Given the description of an element on the screen output the (x, y) to click on. 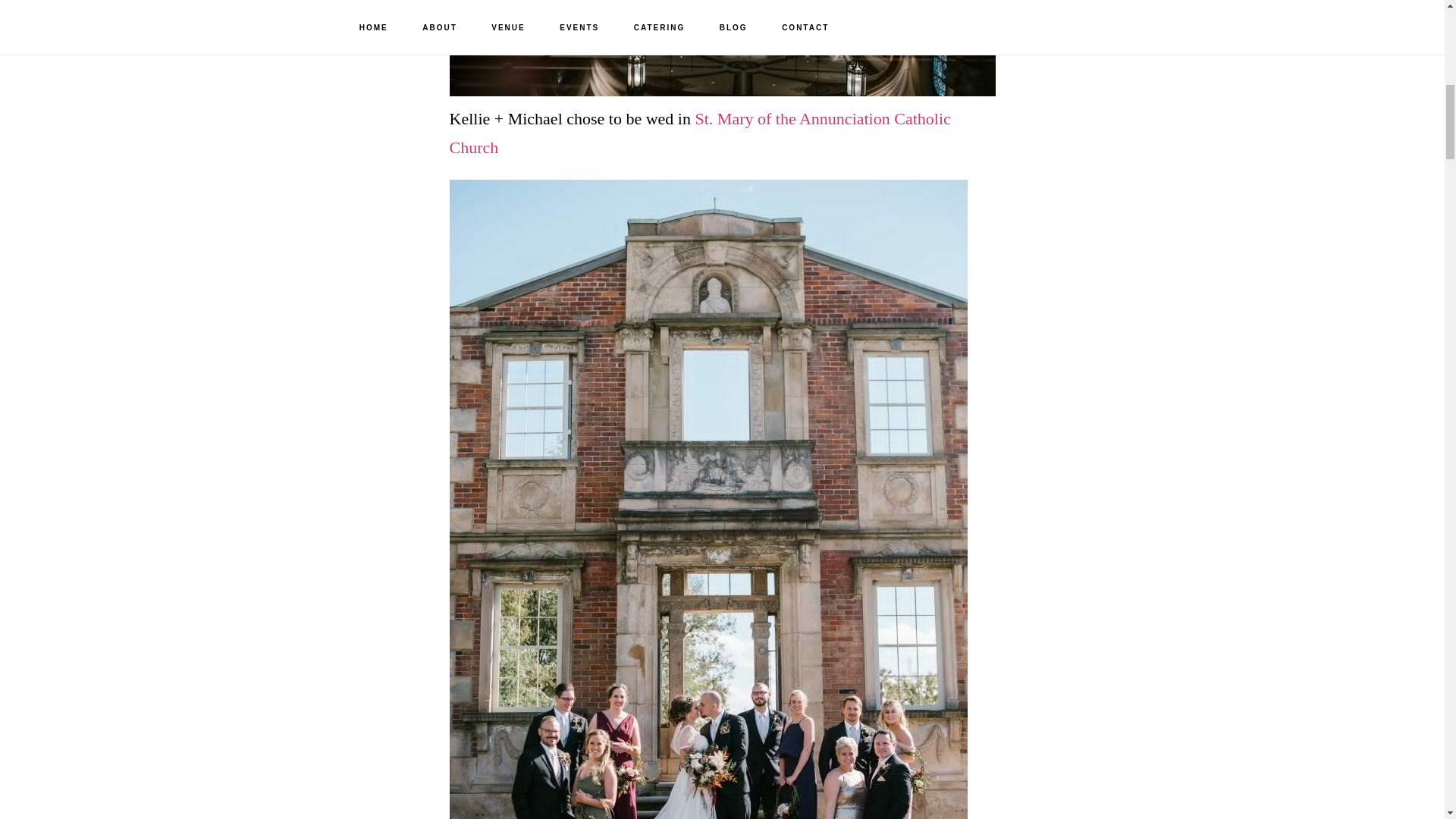
St. Mary of the Annunciation Catholic Church (699, 133)
